Given the description of an element on the screen output the (x, y) to click on. 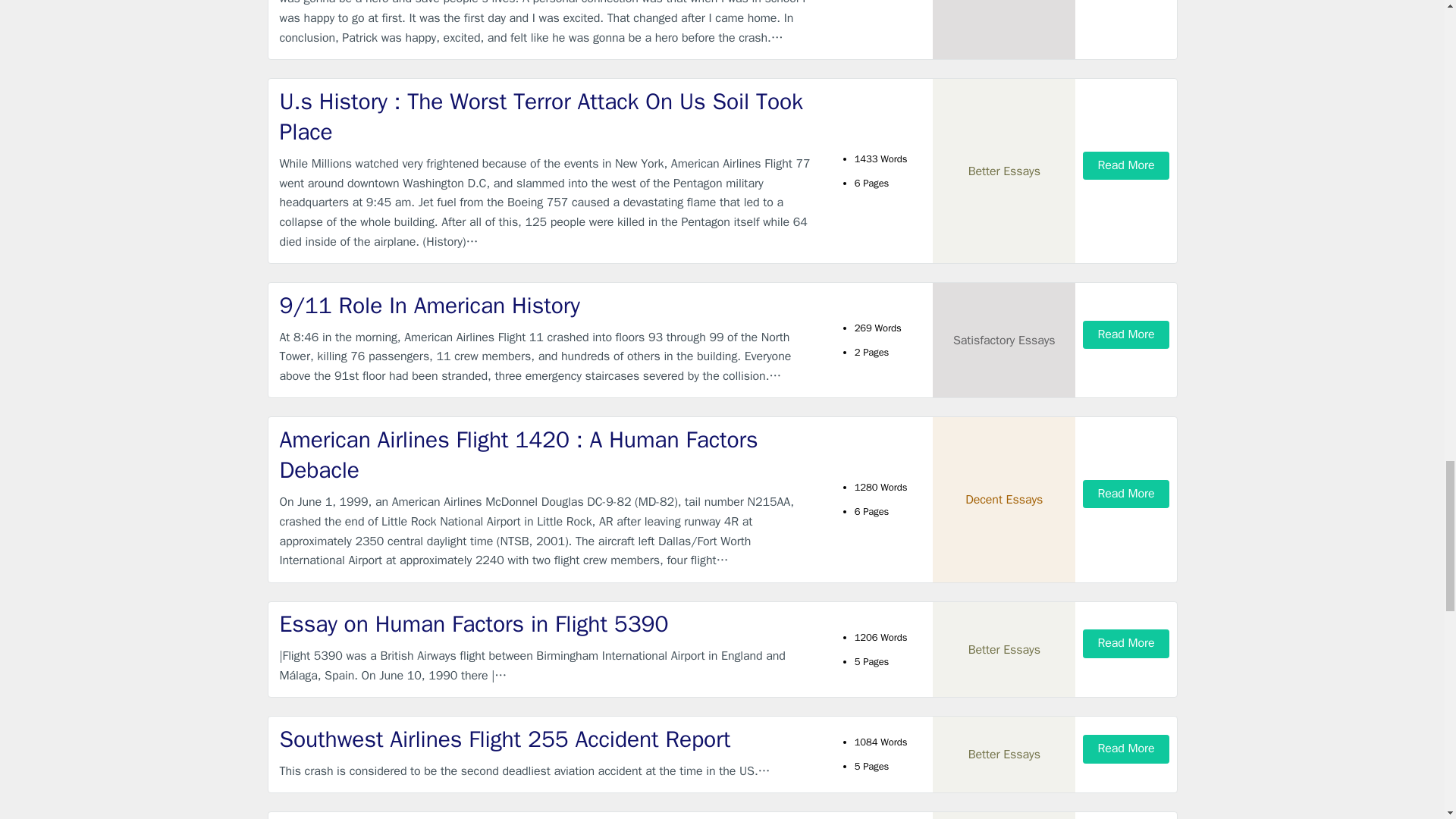
U.s History : The Worst Terror Attack On Us Soil Took Place (548, 117)
